Given the description of an element on the screen output the (x, y) to click on. 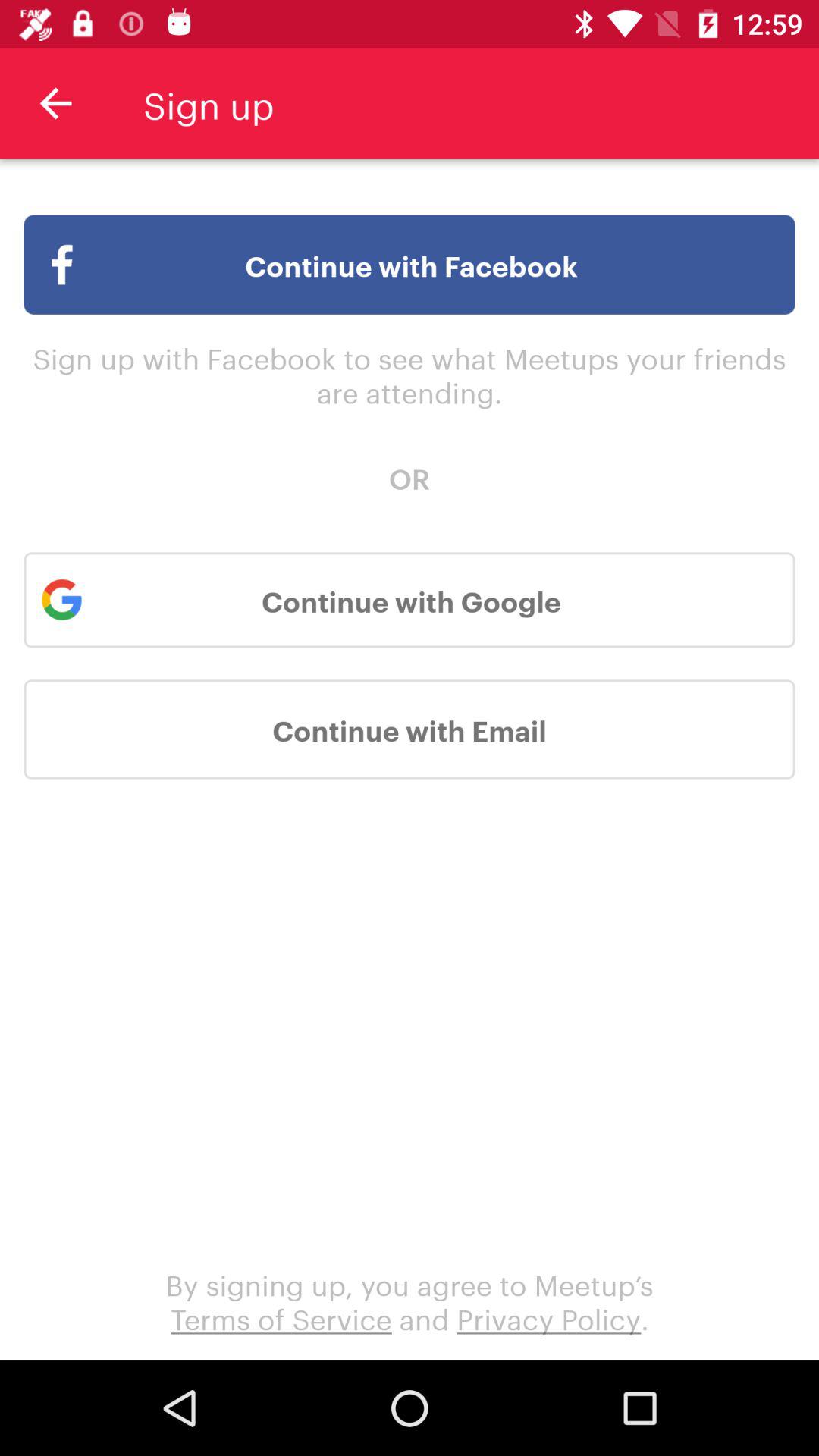
press item below continue with email icon (409, 1300)
